Given the description of an element on the screen output the (x, y) to click on. 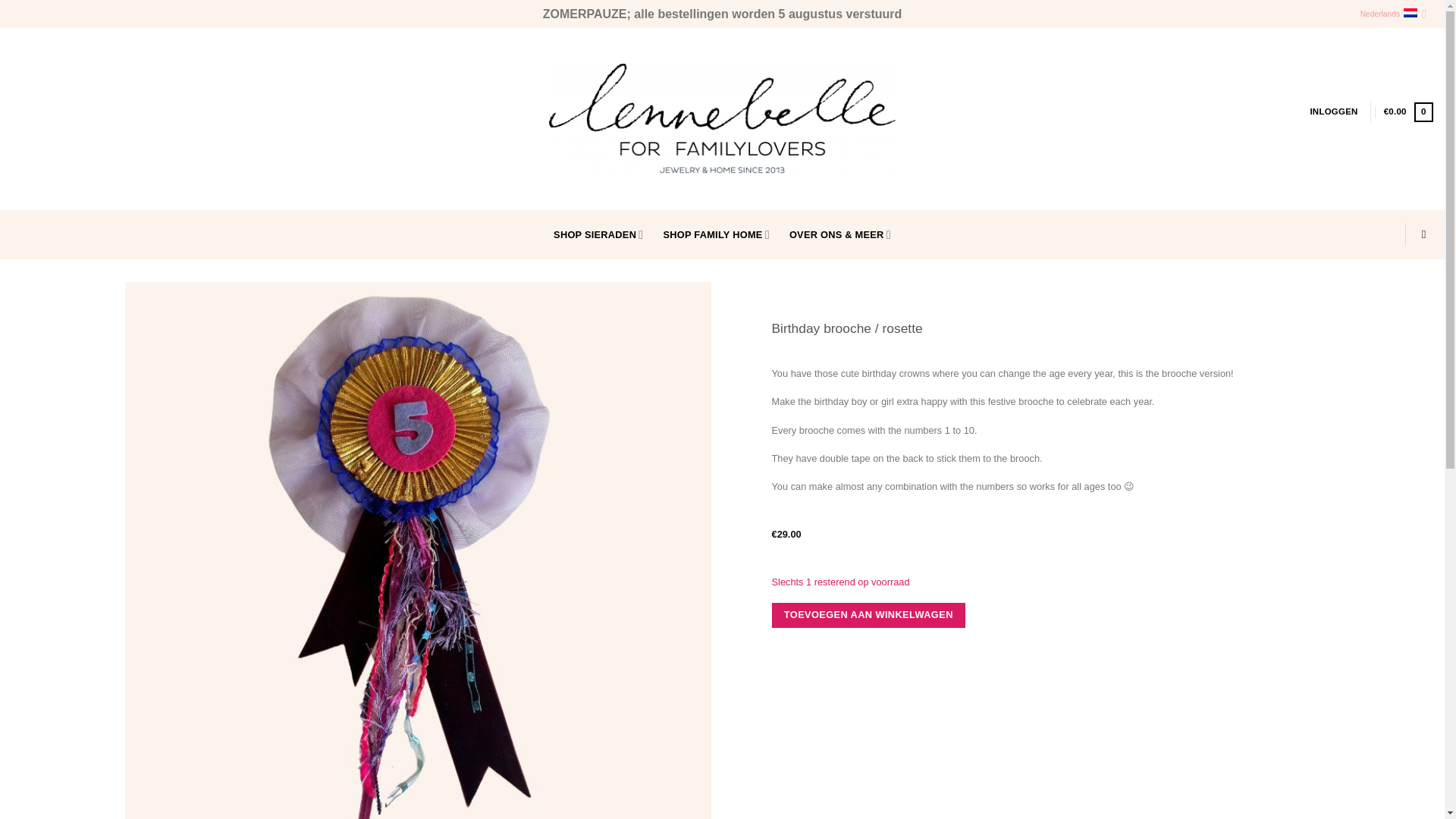
Nederlands (1392, 13)
SHOP SIERADEN (598, 234)
Lennebelle (721, 118)
